Given the description of an element on the screen output the (x, y) to click on. 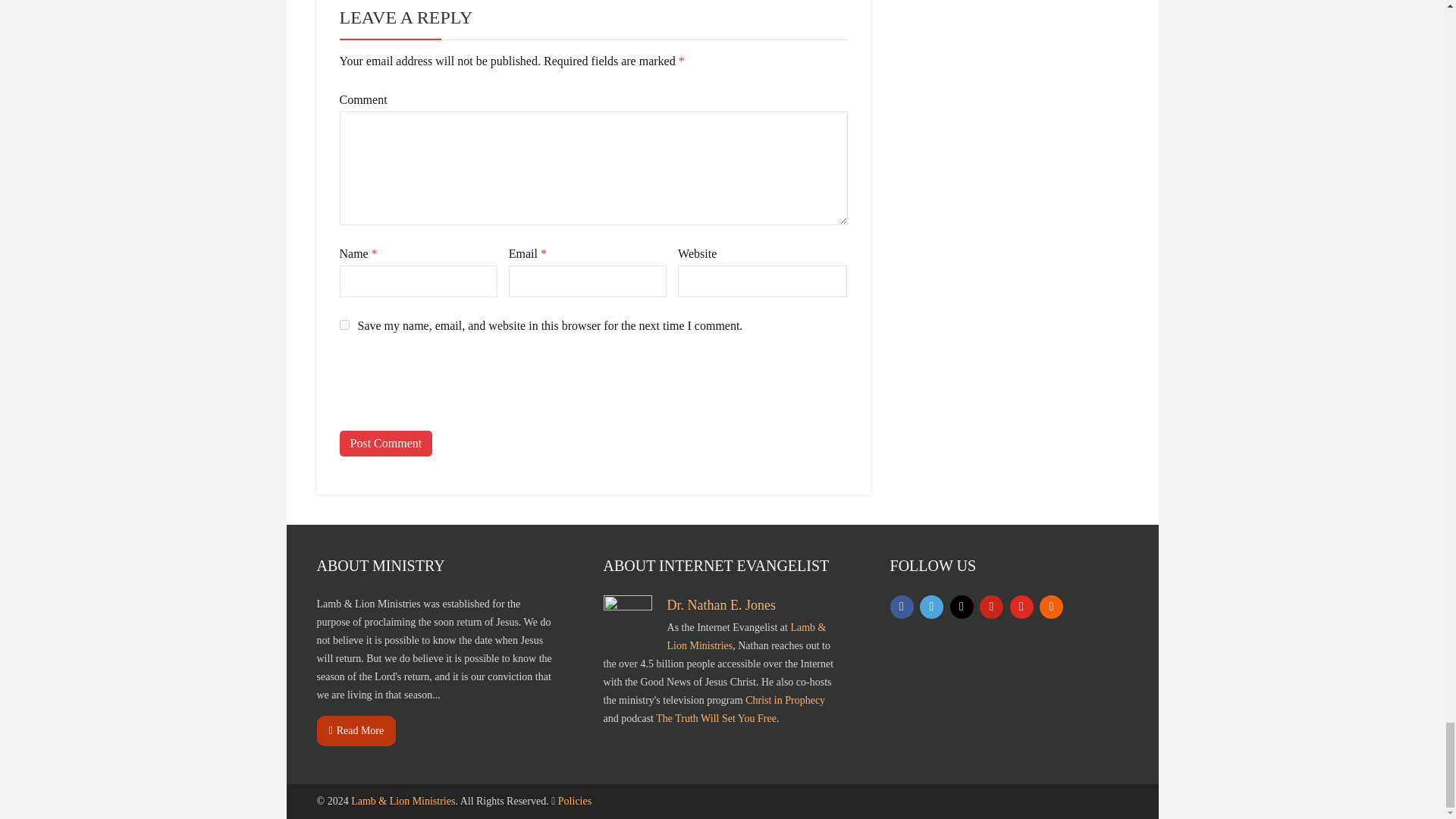
yes (344, 325)
Post Comment (385, 443)
